Given the description of an element on the screen output the (x, y) to click on. 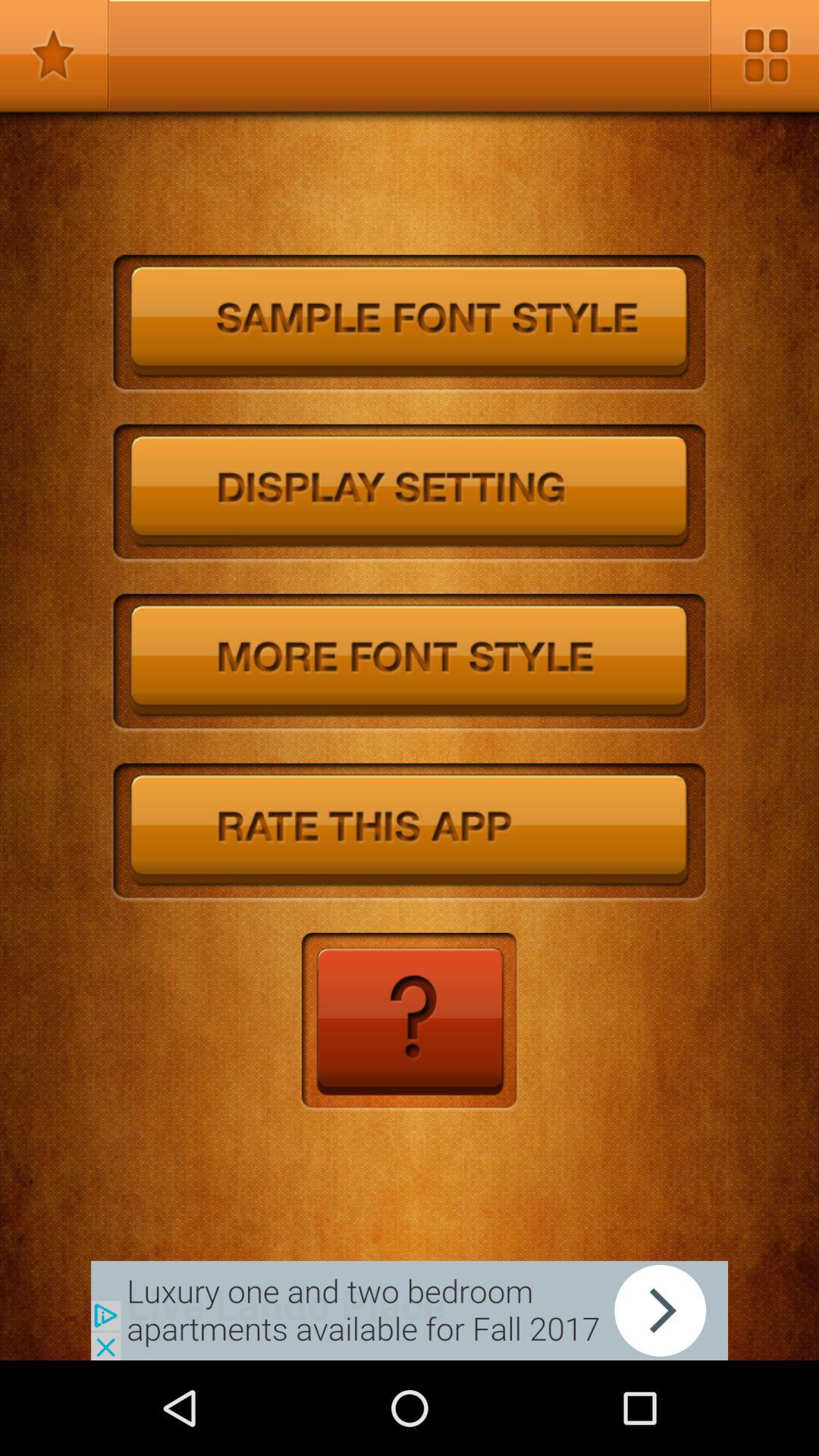
font style (409, 324)
